Given the description of an element on the screen output the (x, y) to click on. 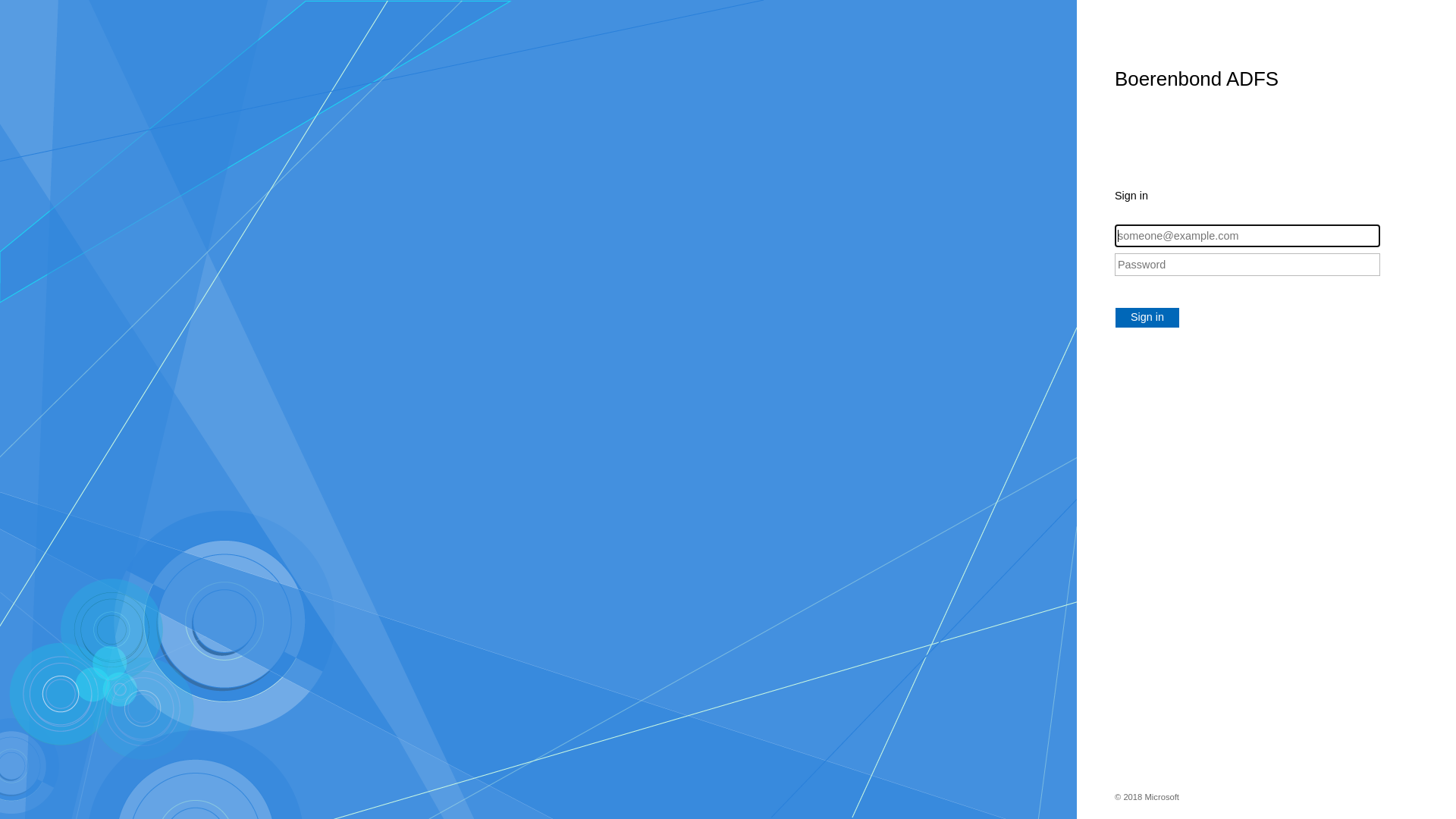
Sign in Element type: text (1146, 317)
